Given the description of an element on the screen output the (x, y) to click on. 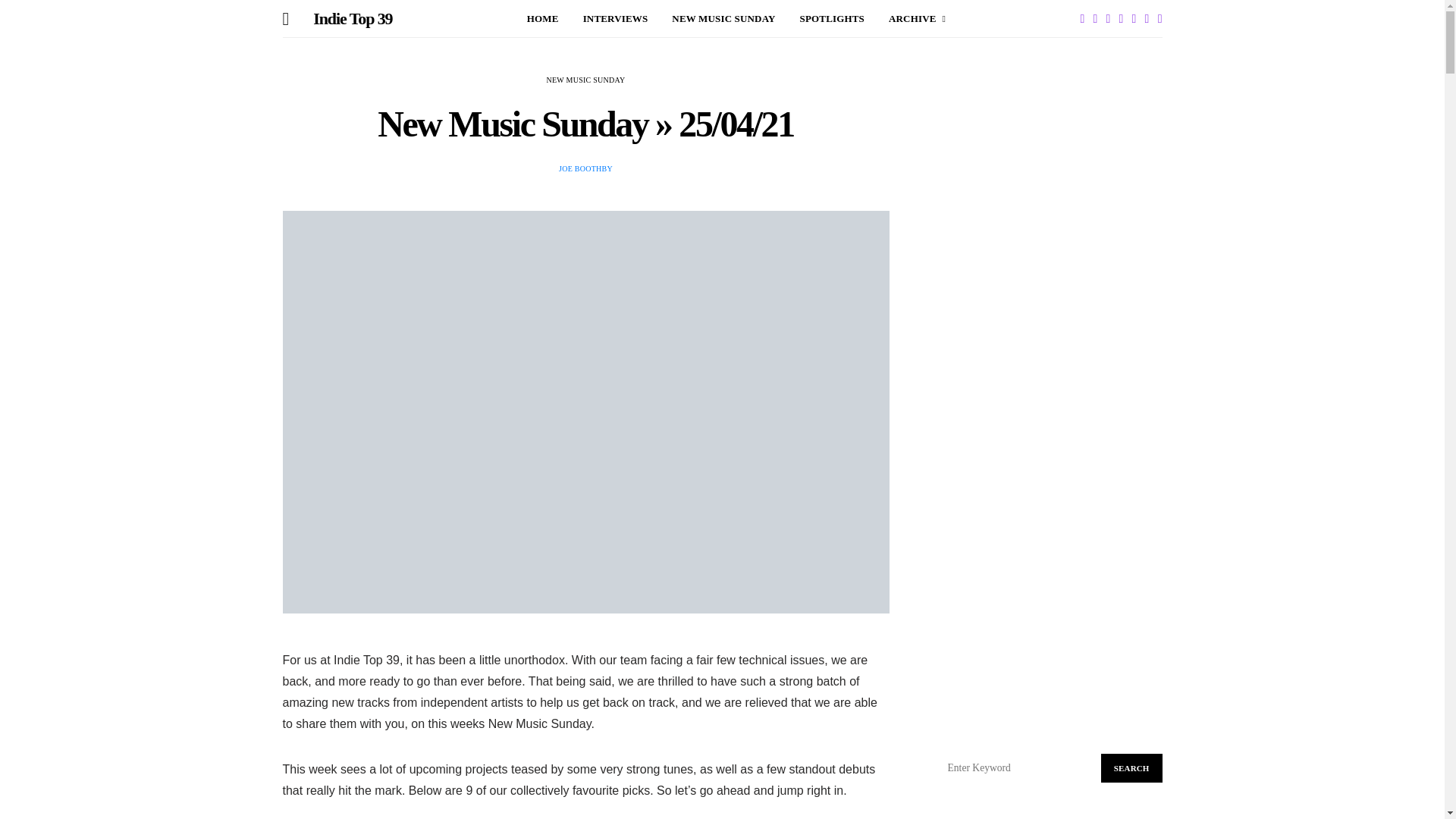
INTERVIEWS (615, 18)
ARCHIVE (916, 18)
SPOTLIGHTS (831, 18)
NEW MUSIC SUNDAY (722, 18)
Indie Top 39 (352, 18)
View all posts by Joe Boothby (585, 168)
